Given the description of an element on the screen output the (x, y) to click on. 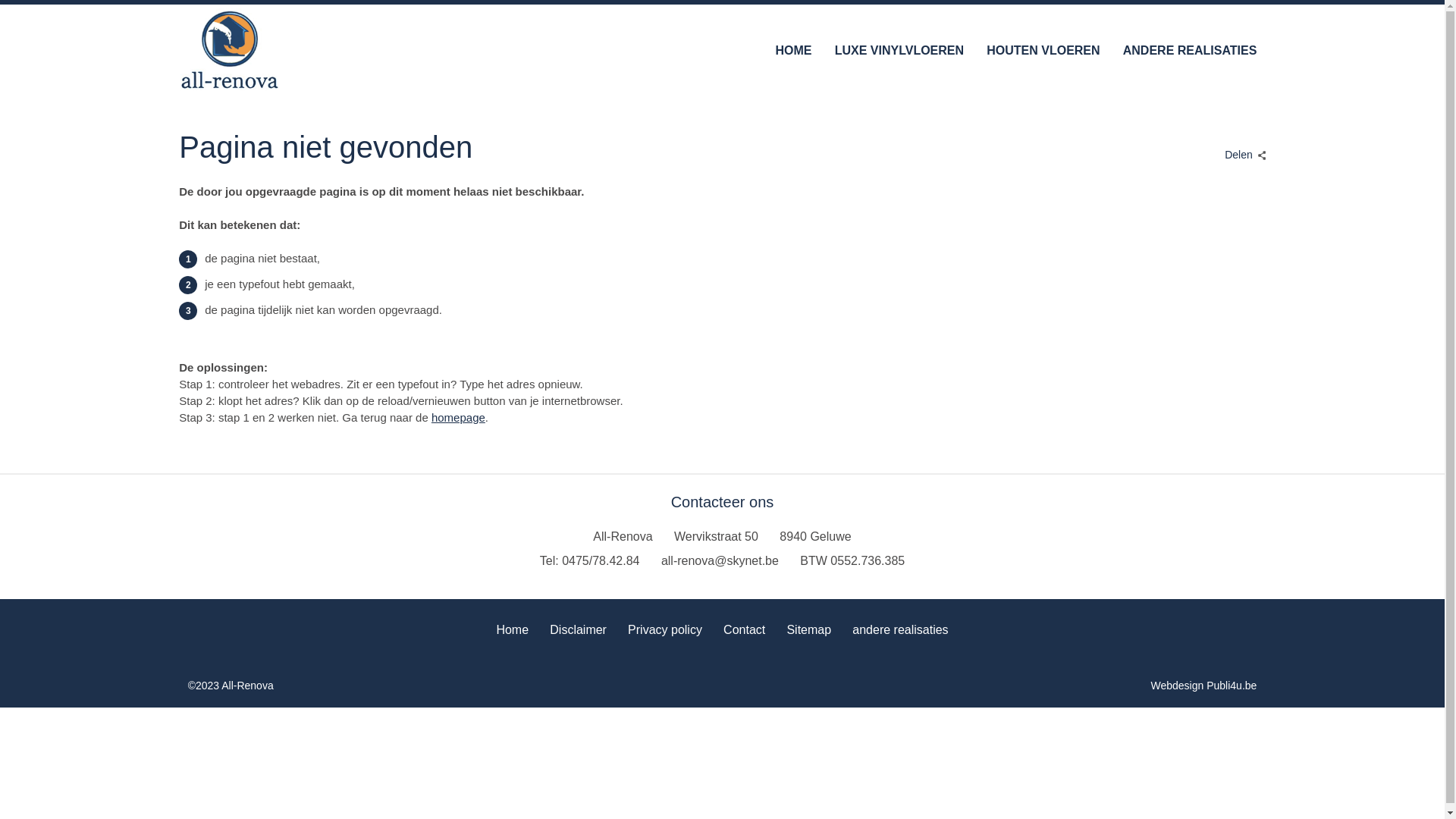
homepage Element type: text (458, 417)
Delen Element type: text (1241, 150)
Sitemap Element type: text (808, 627)
LUXE VINYLVLOEREN Element type: text (898, 49)
All-Renova Element type: hover (229, 49)
Disclaimer Element type: text (577, 627)
Contact Element type: text (744, 627)
andere realisaties Element type: text (899, 627)
Home Element type: text (511, 627)
HOUTEN VLOEREN Element type: text (1042, 49)
Webdesign Publi4u.be Element type: text (1204, 685)
HOME Element type: text (793, 49)
all-renova@skynet.be Element type: text (719, 560)
ANDERE REALISATIES Element type: text (1190, 49)
Privacy policy Element type: text (664, 627)
